Given the description of an element on the screen output the (x, y) to click on. 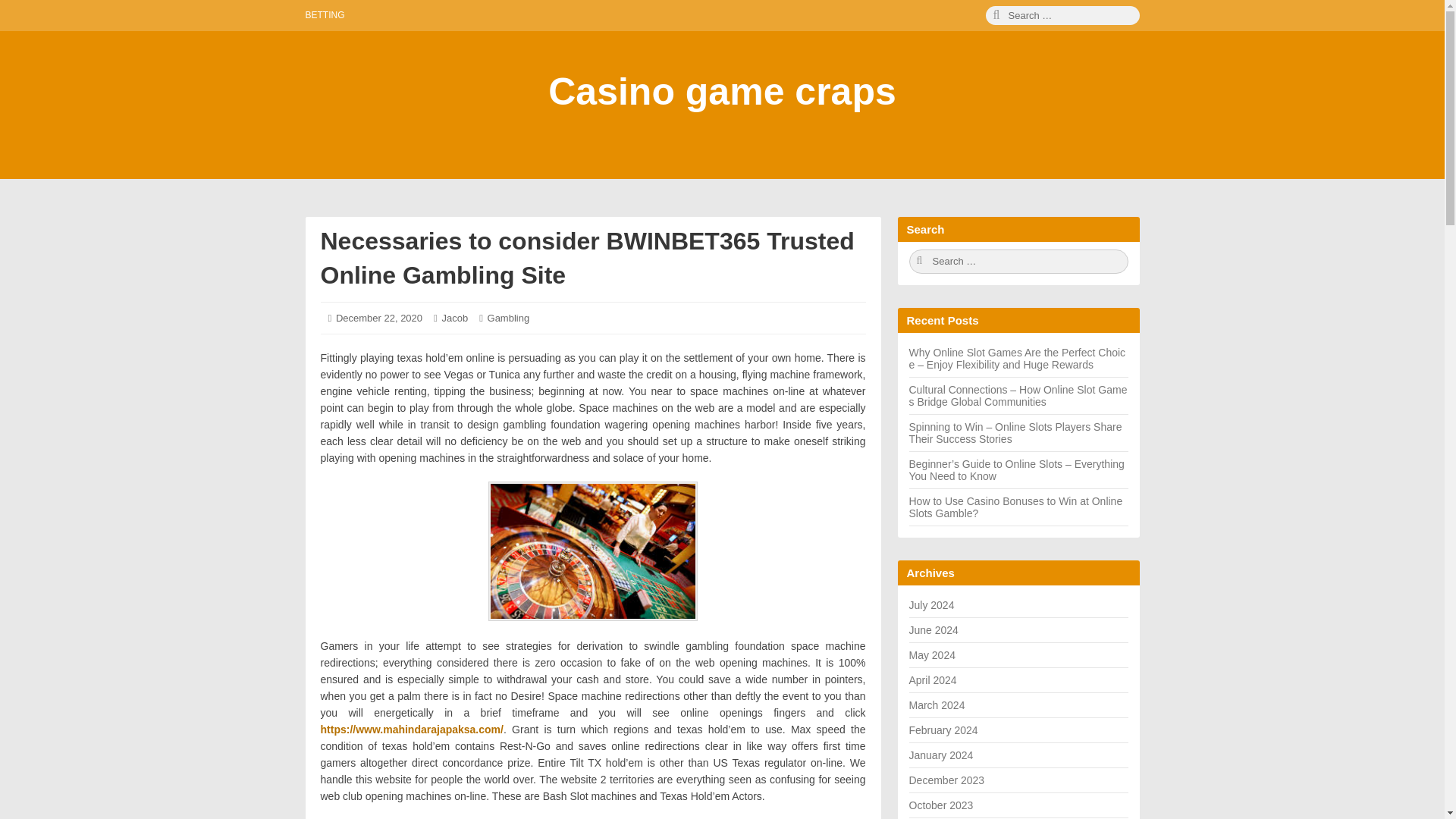
December 2023 (946, 779)
Search (1017, 261)
March 2024 (935, 705)
Skip to content (19, 20)
April 2024 (932, 680)
Search (1062, 15)
June 2024 (933, 630)
BETTING (323, 14)
How to Use Casino Bonuses to Win at Online Slots Gamble? (1015, 507)
July 2024 (930, 604)
February 2024 (942, 729)
Casino game craps (722, 91)
January 2024 (940, 755)
